Given the description of an element on the screen output the (x, y) to click on. 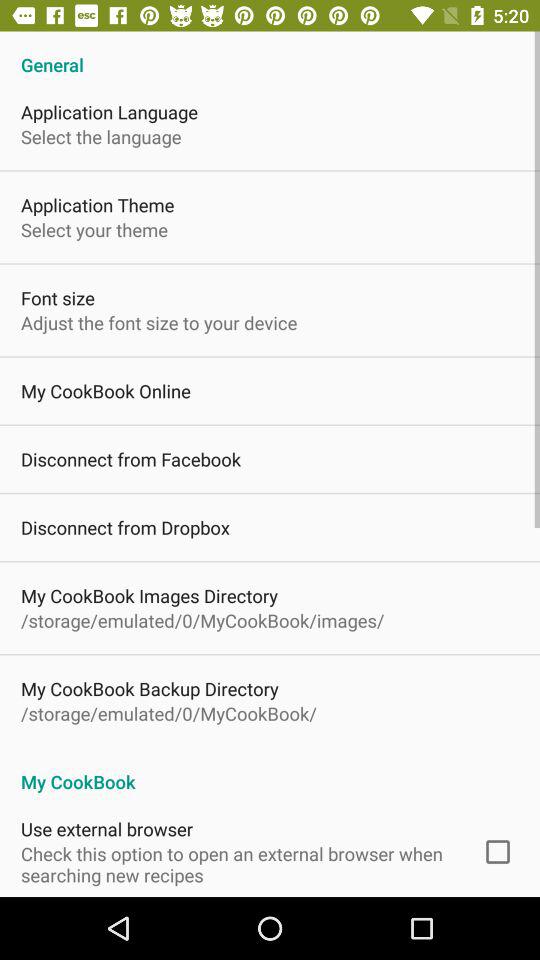
jump until the general app (270, 54)
